Given the description of an element on the screen output the (x, y) to click on. 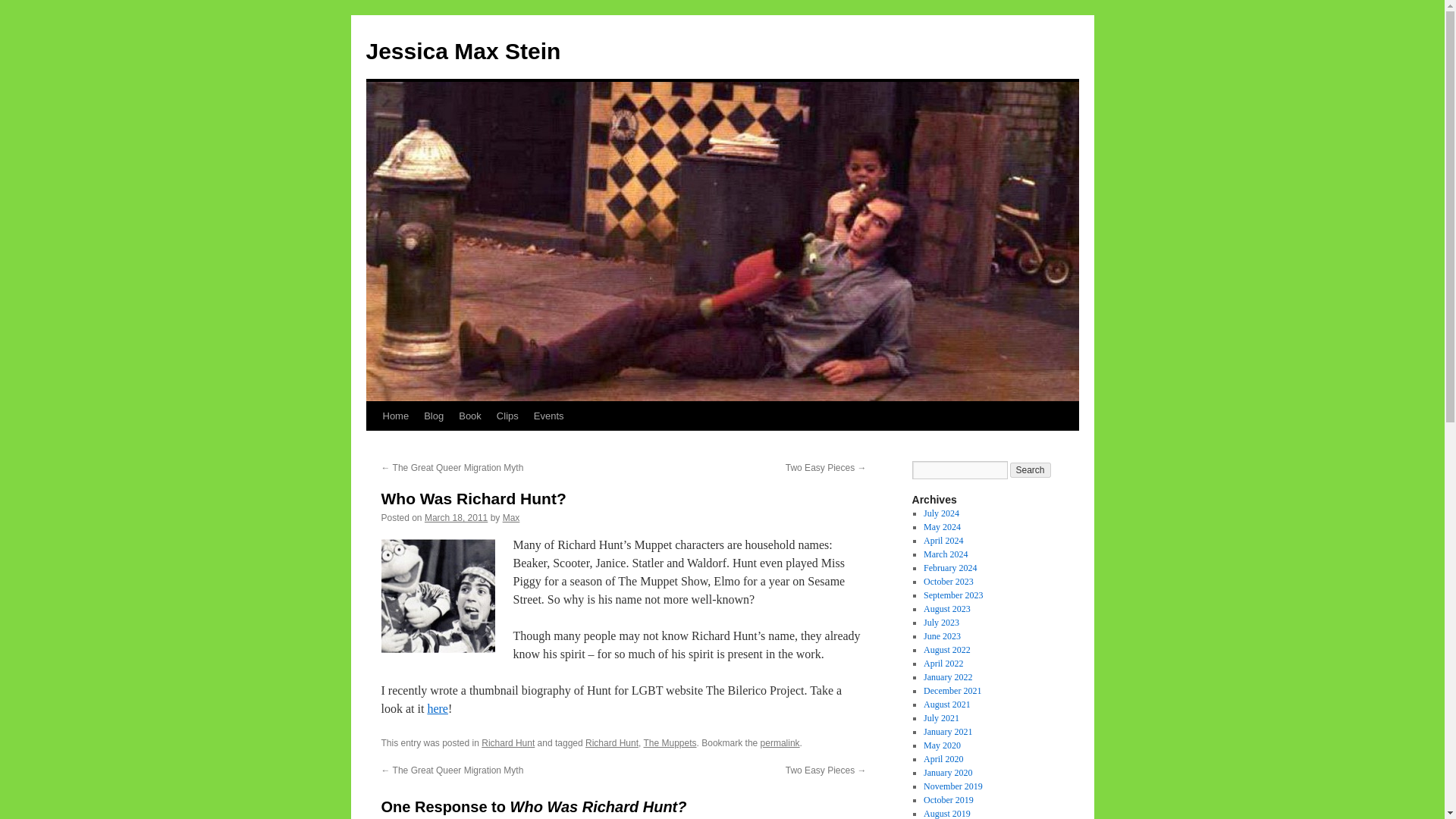
here (437, 707)
April 2022 (942, 663)
Search (1030, 469)
September 2023 (952, 594)
January 2021 (947, 731)
Clips (507, 416)
Jessica Max Stein (462, 50)
March 2024 (945, 553)
April 2024 (942, 540)
December 2021 (952, 690)
August 2022 (947, 649)
May 2024 (941, 526)
Max (510, 517)
Search (1030, 469)
Richard Hunt (612, 742)
